Given the description of an element on the screen output the (x, y) to click on. 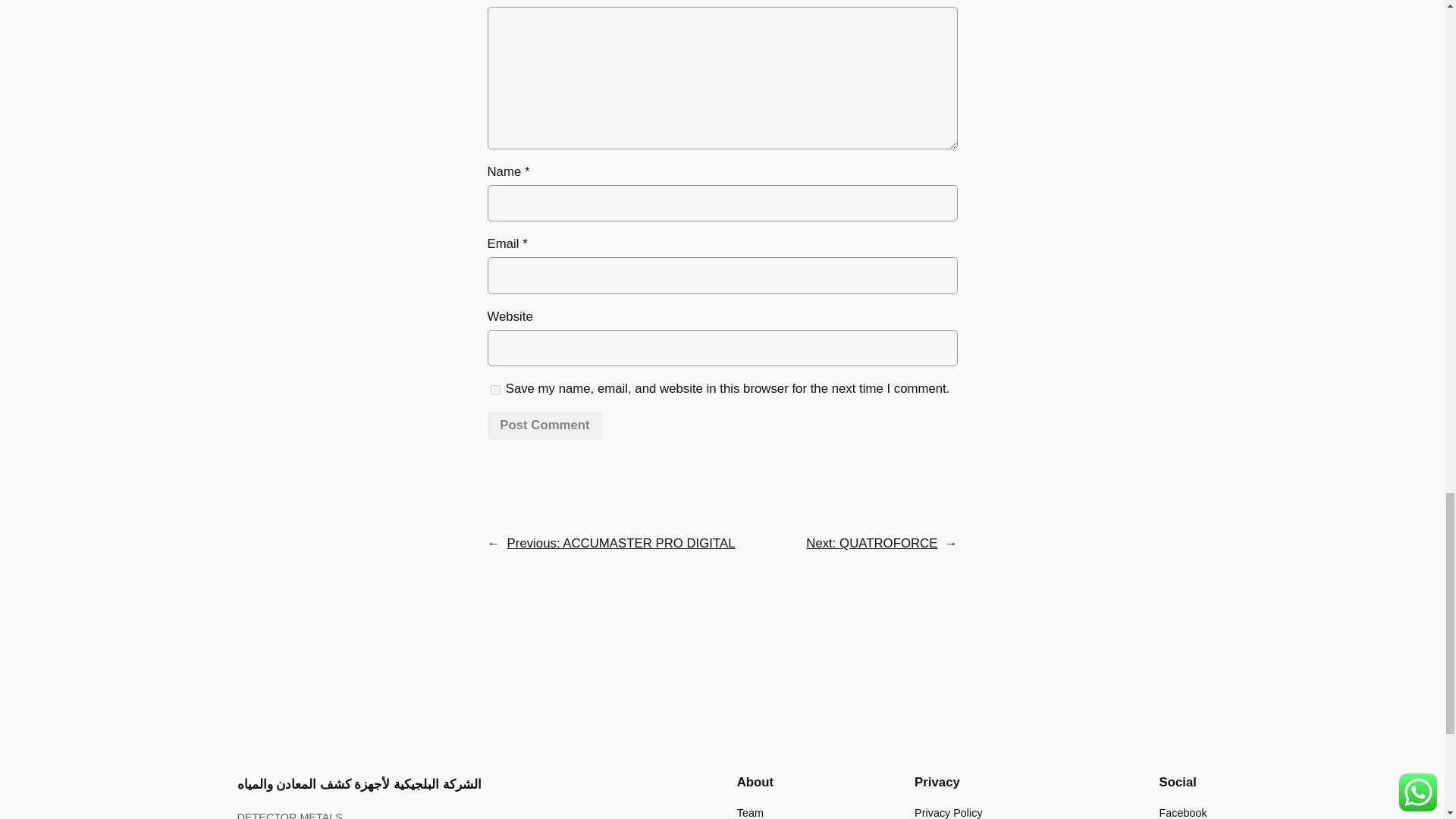
Next: QUATROFORCE (871, 543)
Team (749, 811)
Post Comment (544, 425)
Previous: ACCUMASTER PRO DIGITAL (620, 543)
Post Comment (544, 425)
